Given the description of an element on the screen output the (x, y) to click on. 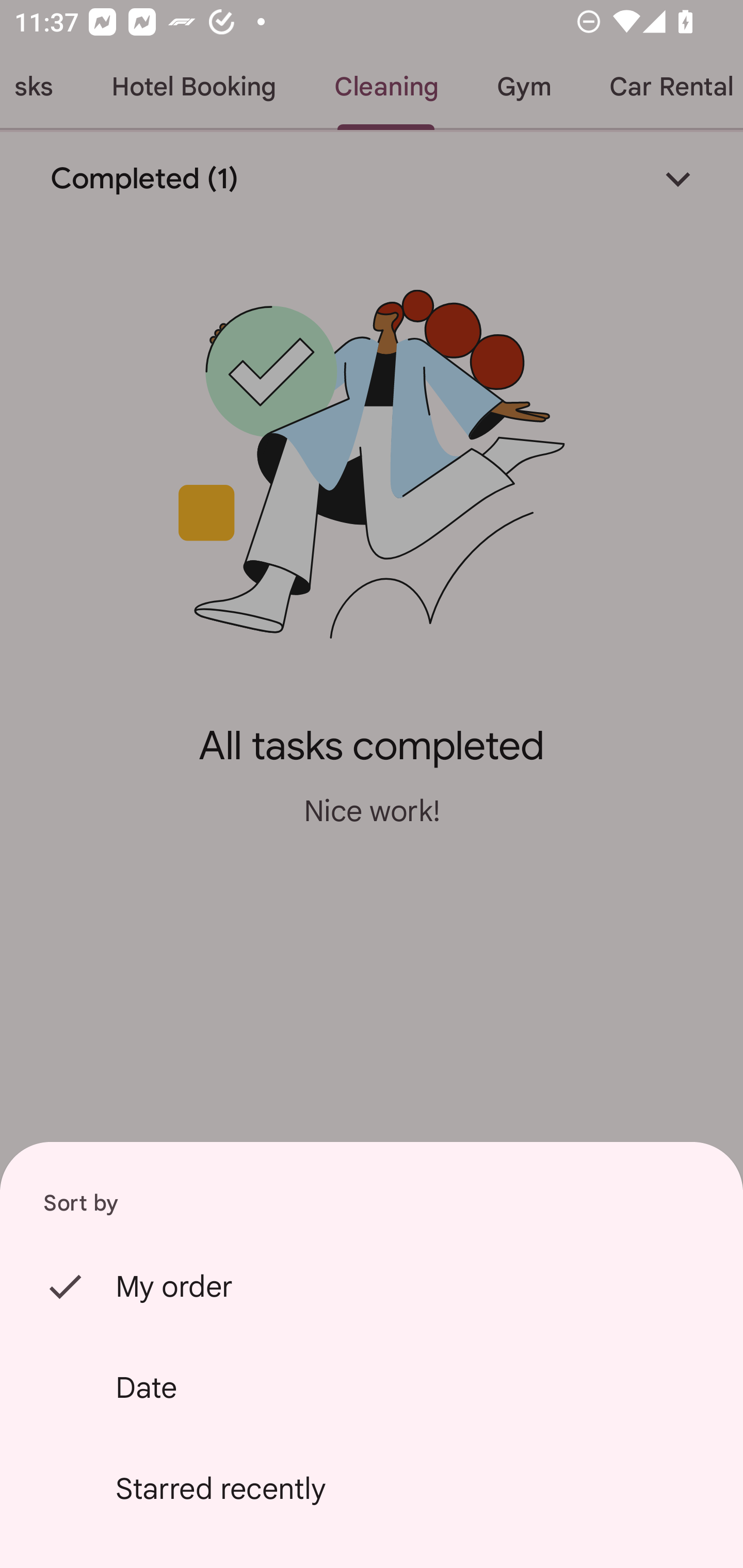
My order (371, 1286)
Date (371, 1387)
Starred recently (371, 1488)
